Given the description of an element on the screen output the (x, y) to click on. 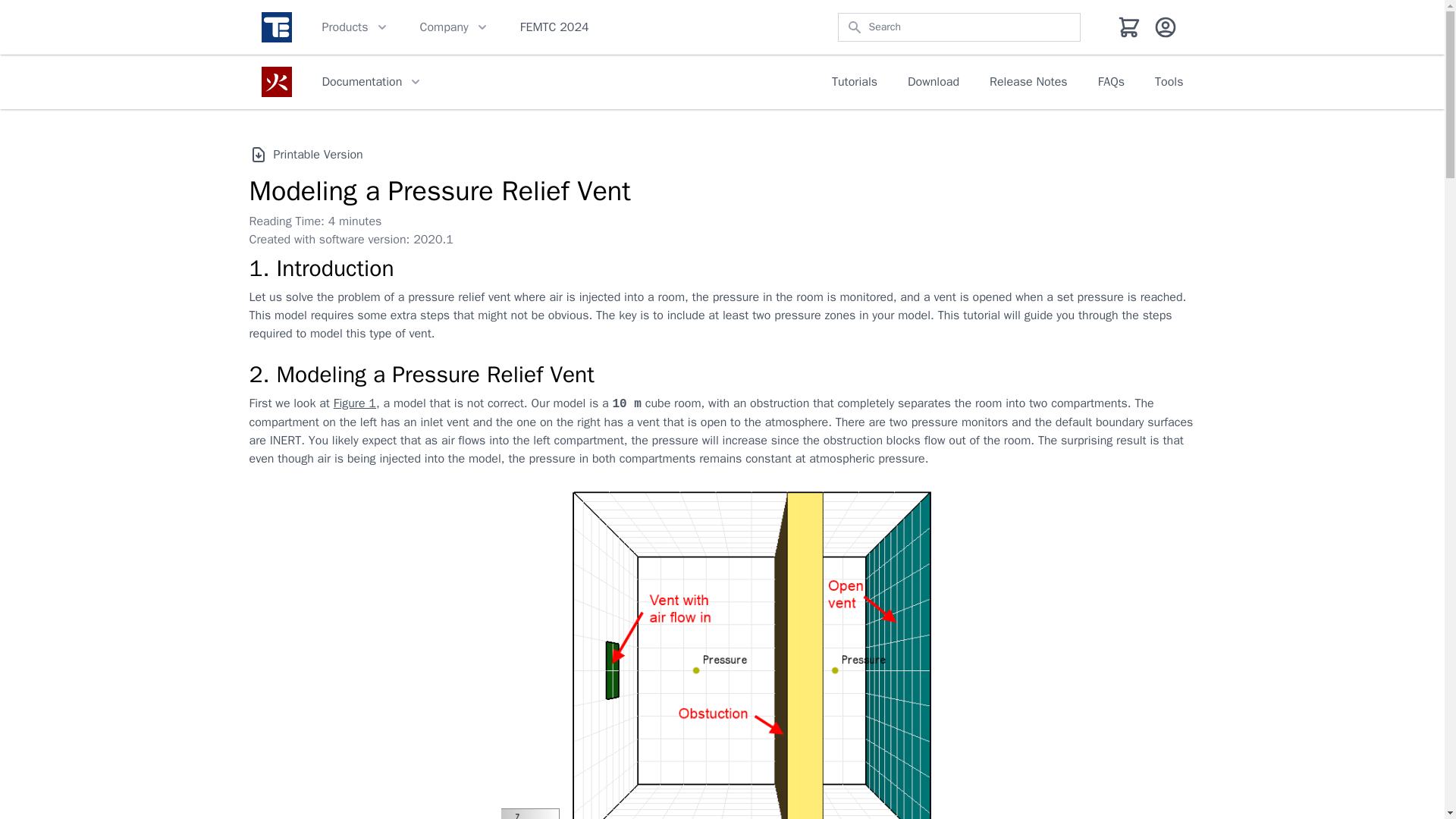
My Account (1164, 27)
Products (354, 27)
FEMTC 2024 (554, 27)
Open the image in full size (722, 672)
Thunderhead Logo (275, 27)
Thunderhead Engineering (275, 27)
PyroSim Icon (275, 81)
Company (454, 27)
Shopping Cart (1128, 27)
